Given the description of an element on the screen output the (x, y) to click on. 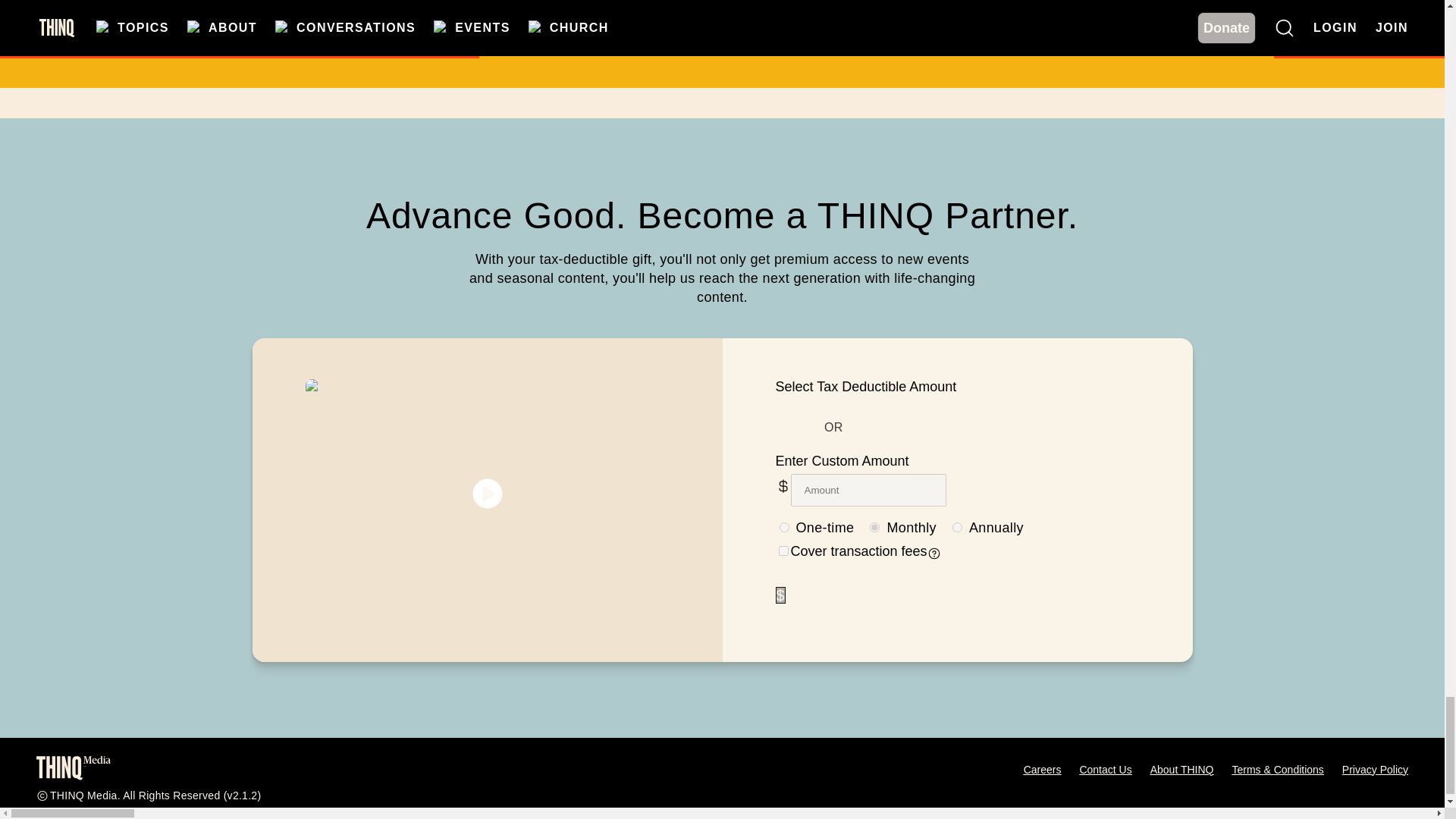
MONTHLY (874, 527)
Enter Custom Amount (841, 460)
ANNUALLY (957, 527)
on (782, 551)
